Given the description of an element on the screen output the (x, y) to click on. 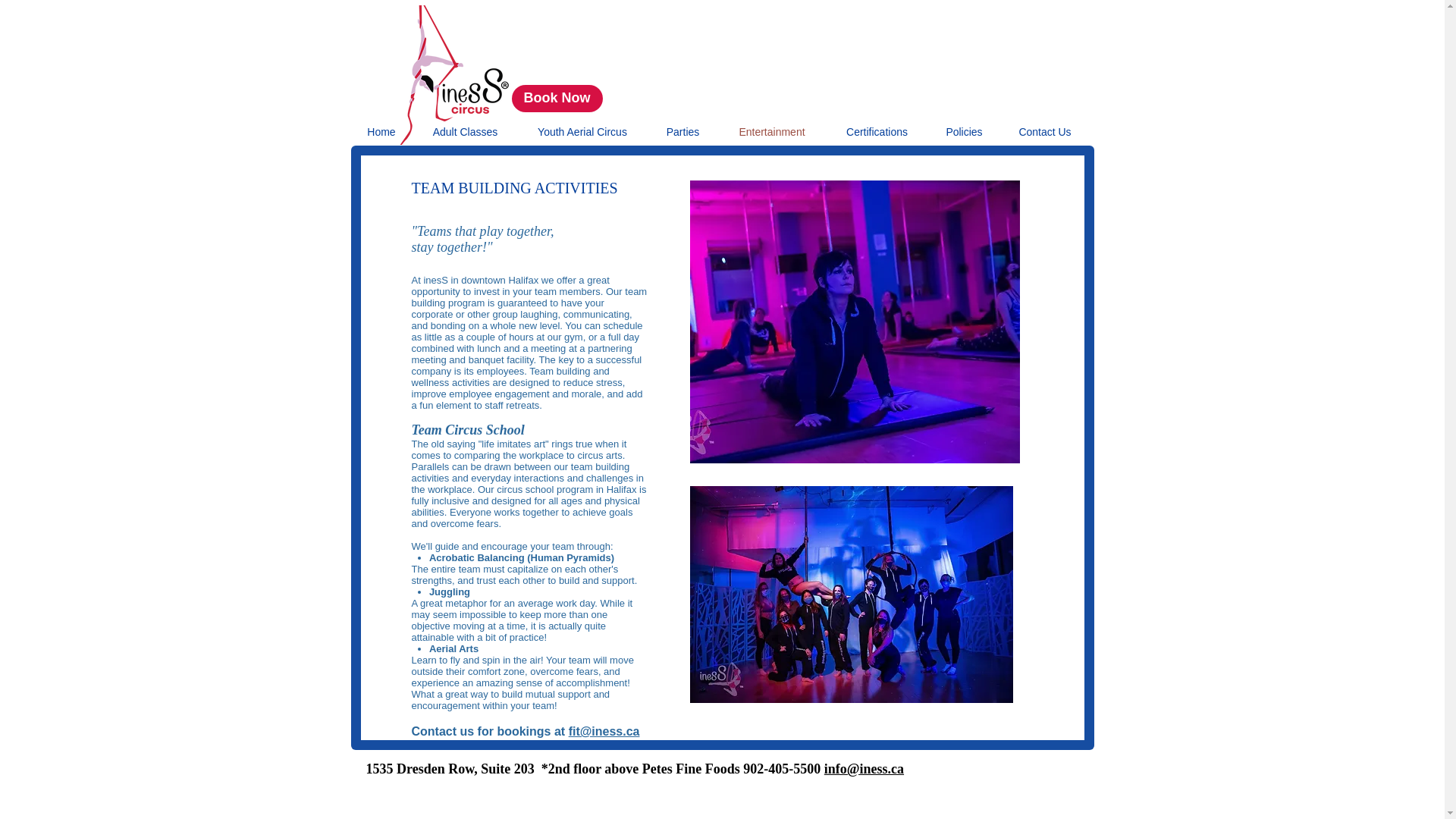
Policies (964, 131)
Contact Us (1045, 131)
Book Now (556, 98)
Entertainment (771, 131)
Home (381, 131)
Parties (682, 131)
